Given the description of an element on the screen output the (x, y) to click on. 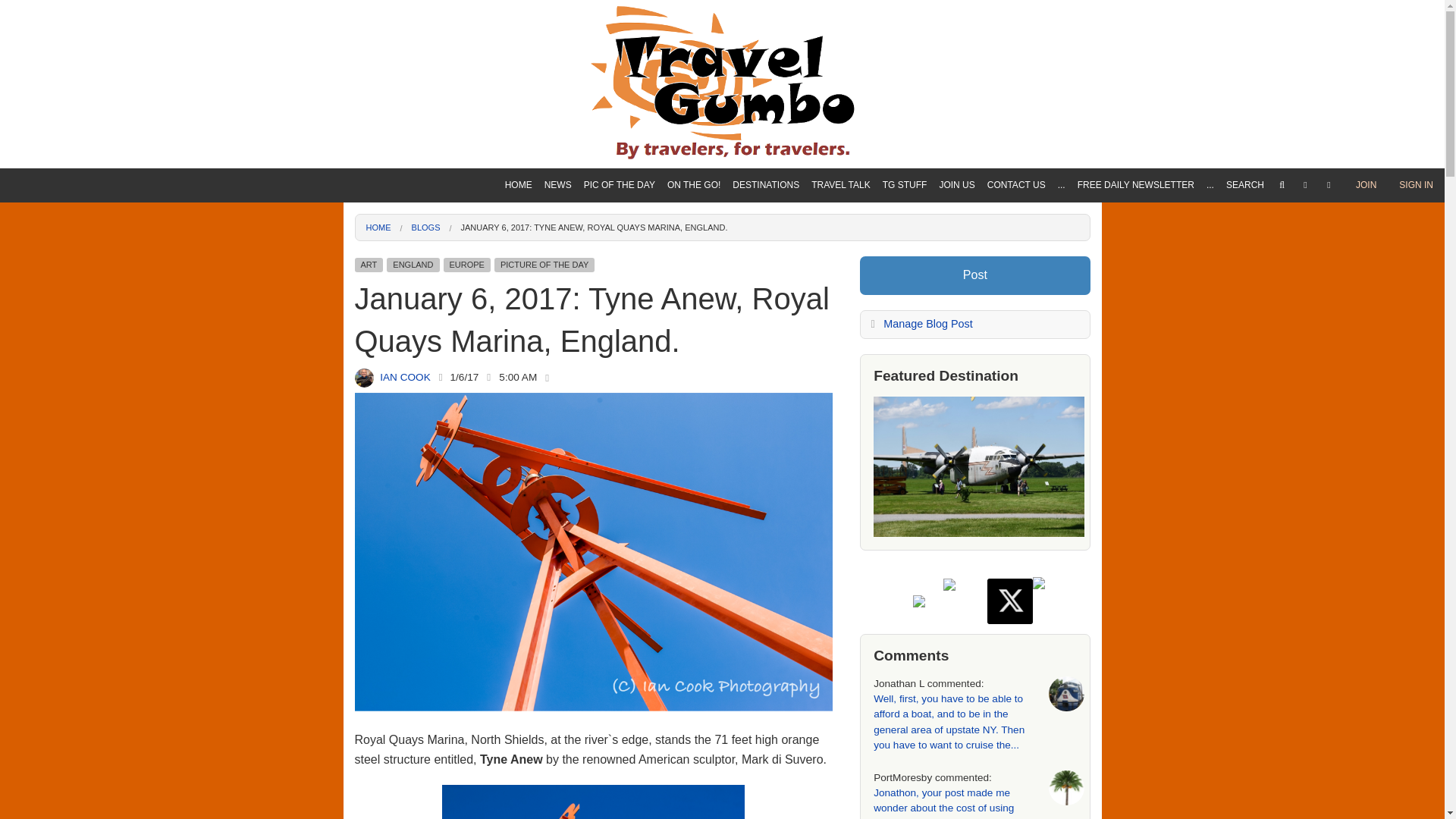
Ian Cook (364, 377)
EUROPE (765, 295)
TRAVEL TALK (840, 185)
DESTINATION DISCUSSIONS (840, 215)
NEWS (558, 185)
Ian Cook is offline. (439, 377)
ANTARCTICA (765, 375)
POST NEW TOPIC (840, 268)
TG STUFF (904, 185)
HOME (518, 185)
